Given the description of an element on the screen output the (x, y) to click on. 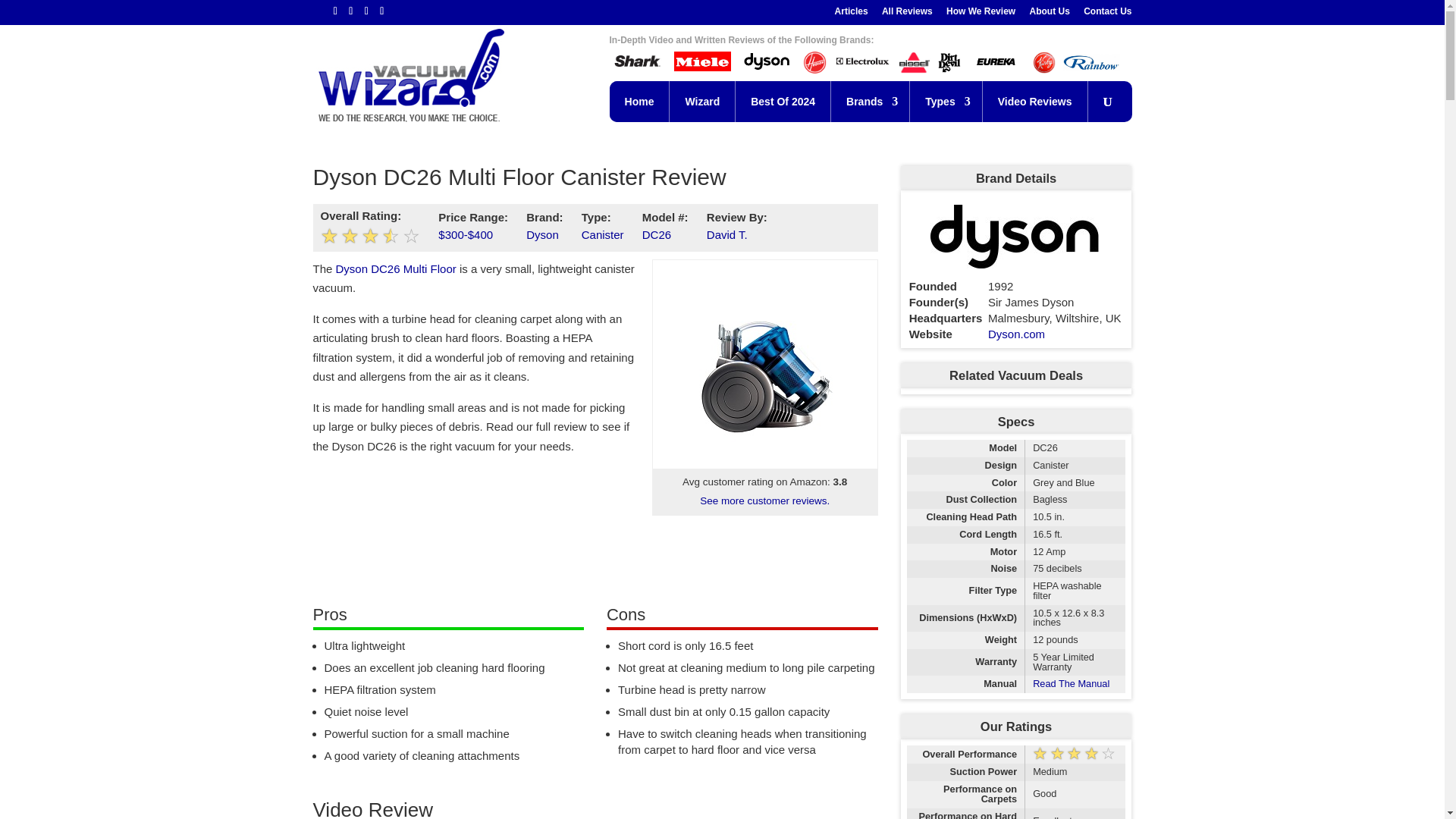
Dyson (766, 61)
Wizard (702, 100)
Best Of 2024 (782, 100)
Rainbow (1090, 62)
Home (639, 100)
Types (945, 100)
Shark (638, 61)
All Reviews (907, 14)
About Us (1048, 14)
Articles (850, 14)
Miele (702, 61)
Electrolux (862, 61)
Eureka (996, 61)
How We Review (980, 14)
Bissell (914, 62)
